Given the description of an element on the screen output the (x, y) to click on. 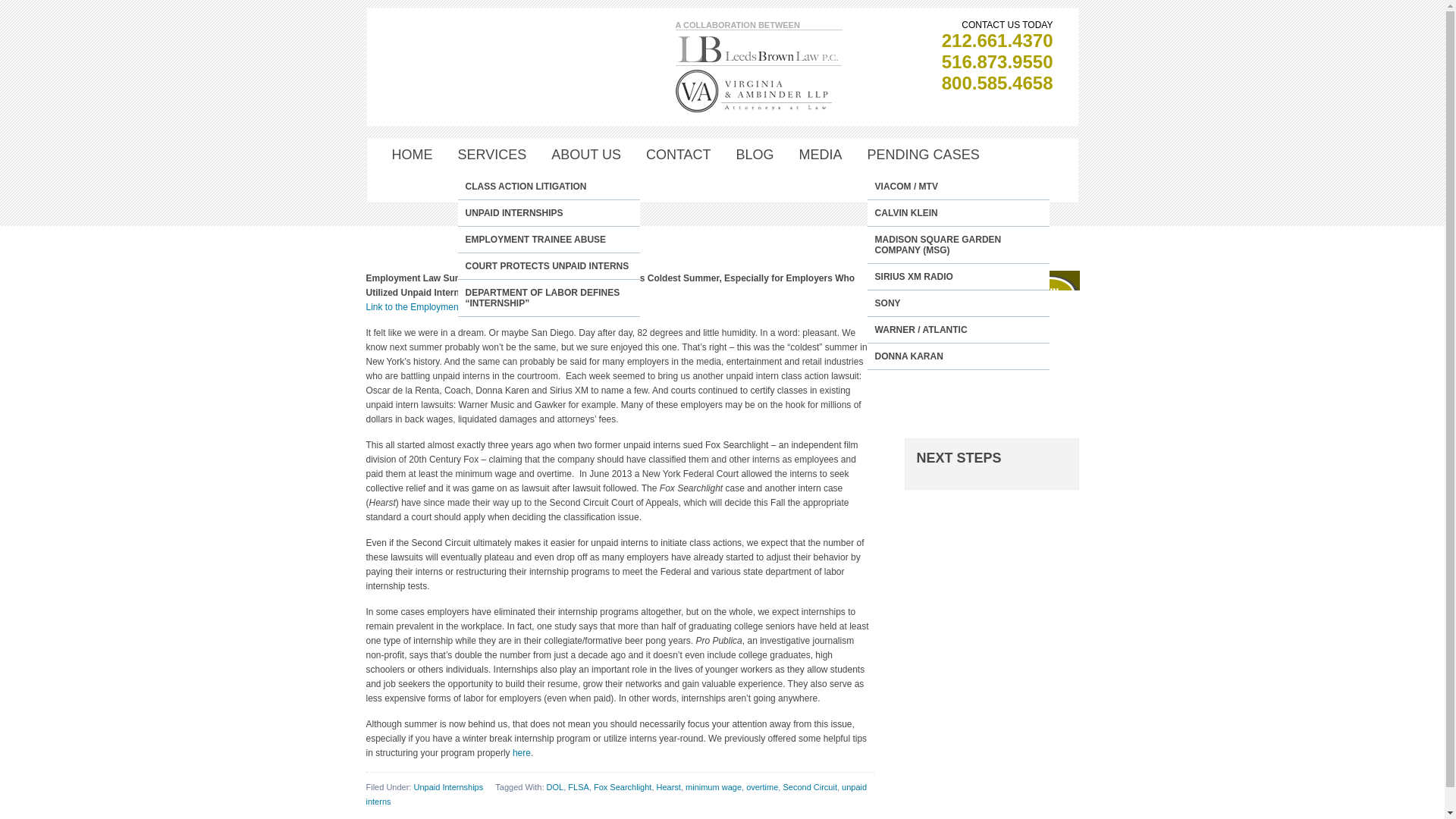
minimum wage (713, 786)
HOME (411, 154)
Fox Searchlight (622, 786)
SIRIUS XM RADIO (958, 276)
Second Circuit (810, 786)
EMPLOYMENT TRAINEE ABUSE (549, 239)
CALVIN KLEIN (958, 212)
overtime (761, 786)
CONTACT (678, 154)
DONNA KARAN (958, 356)
unpaid interns (615, 793)
Employment Matters Blog (453, 307)
SONY (958, 303)
212.661.4370 (997, 40)
Tim (468, 195)
